Given the description of an element on the screen output the (x, y) to click on. 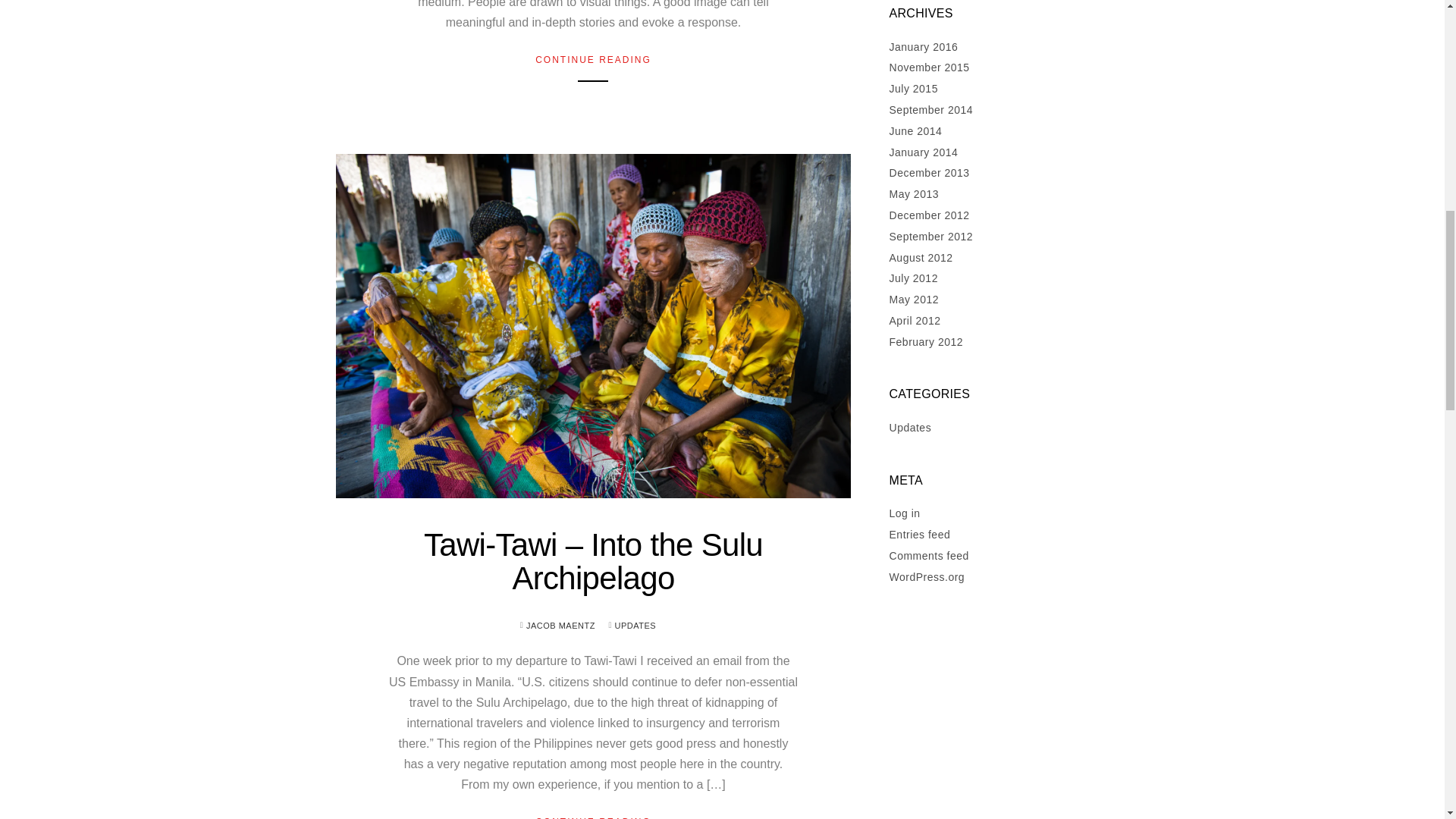
CONTINUE READING (592, 816)
UPDATES (635, 624)
CONTINUE READING (592, 58)
